Given the description of an element on the screen output the (x, y) to click on. 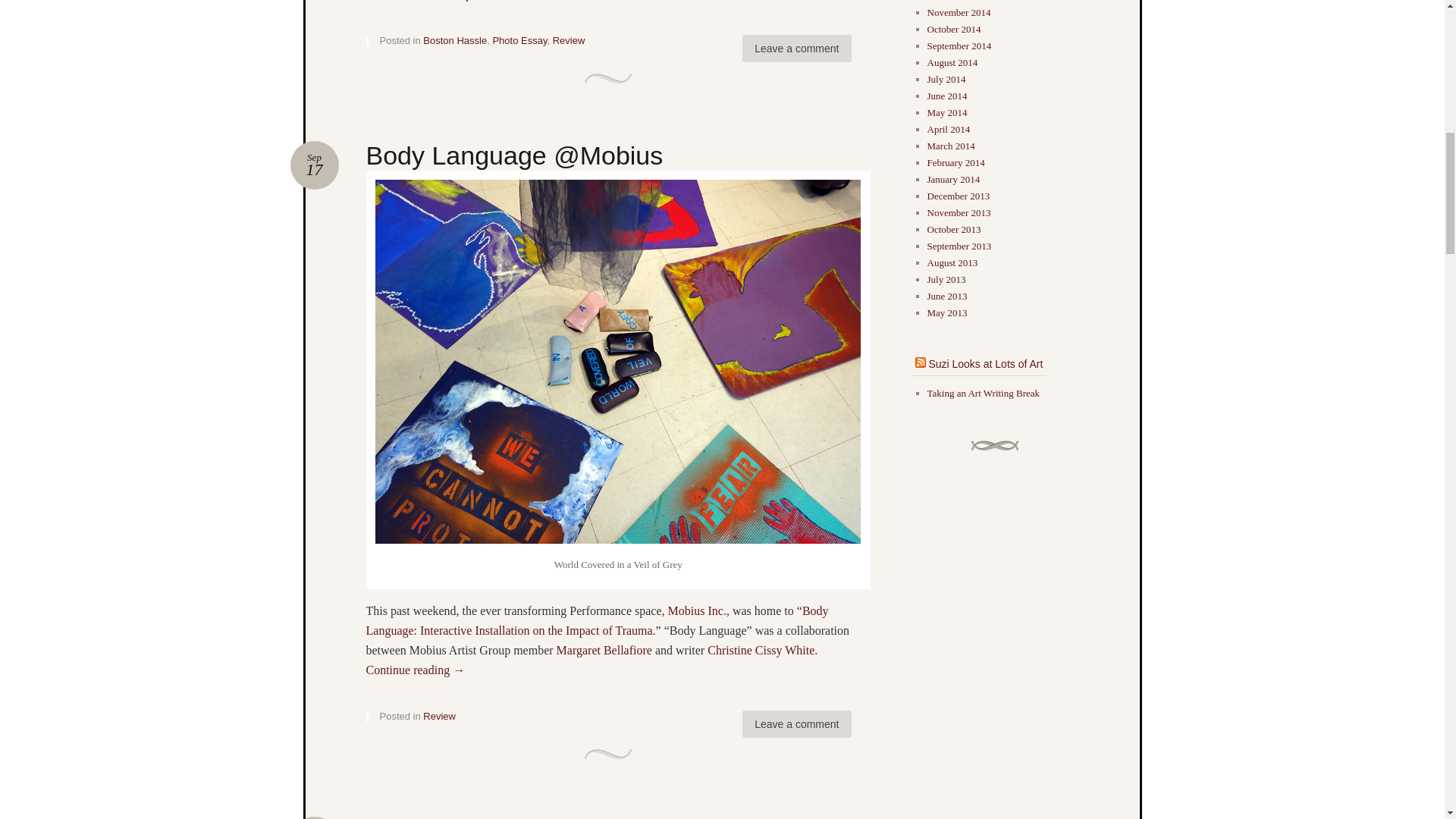
Review (439, 715)
September 17 2014 (313, 164)
Review (569, 40)
SOWA Boston September First Fridays (313, 817)
Read the full write up at The Boston Hassle! (796, 723)
Leave a comment (519, 40)
Permalink to SOWA Boston September First Fridays (796, 48)
Margaret Bellafiore (695, 610)
Boston Hassle (605, 649)
September 8 2014 (454, 40)
